Given the description of an element on the screen output the (x, y) to click on. 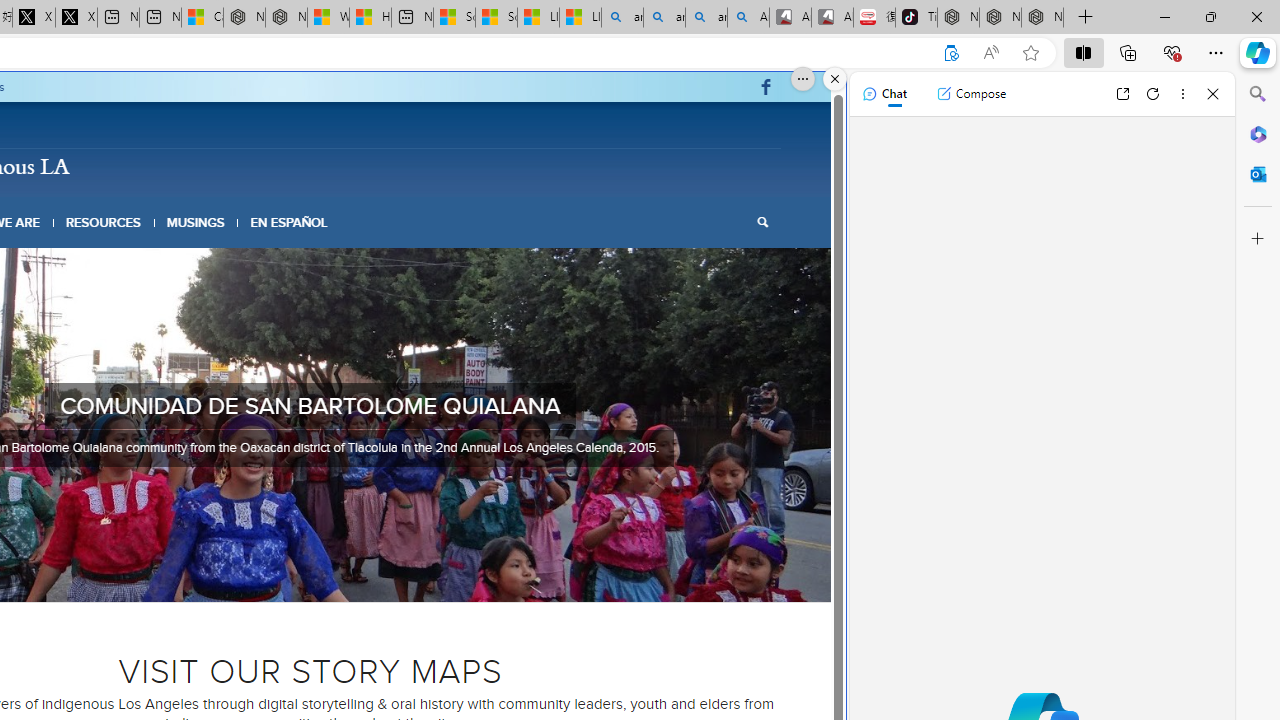
RESOURCES (102, 222)
3 (286, 576)
Link to Facebook (765, 87)
Compose (971, 93)
amazon - Search Images (706, 17)
Nordace - Siena Pro 15 Essential Set (1042, 17)
4 (301, 576)
MUSINGS (195, 222)
